Given the description of an element on the screen output the (x, y) to click on. 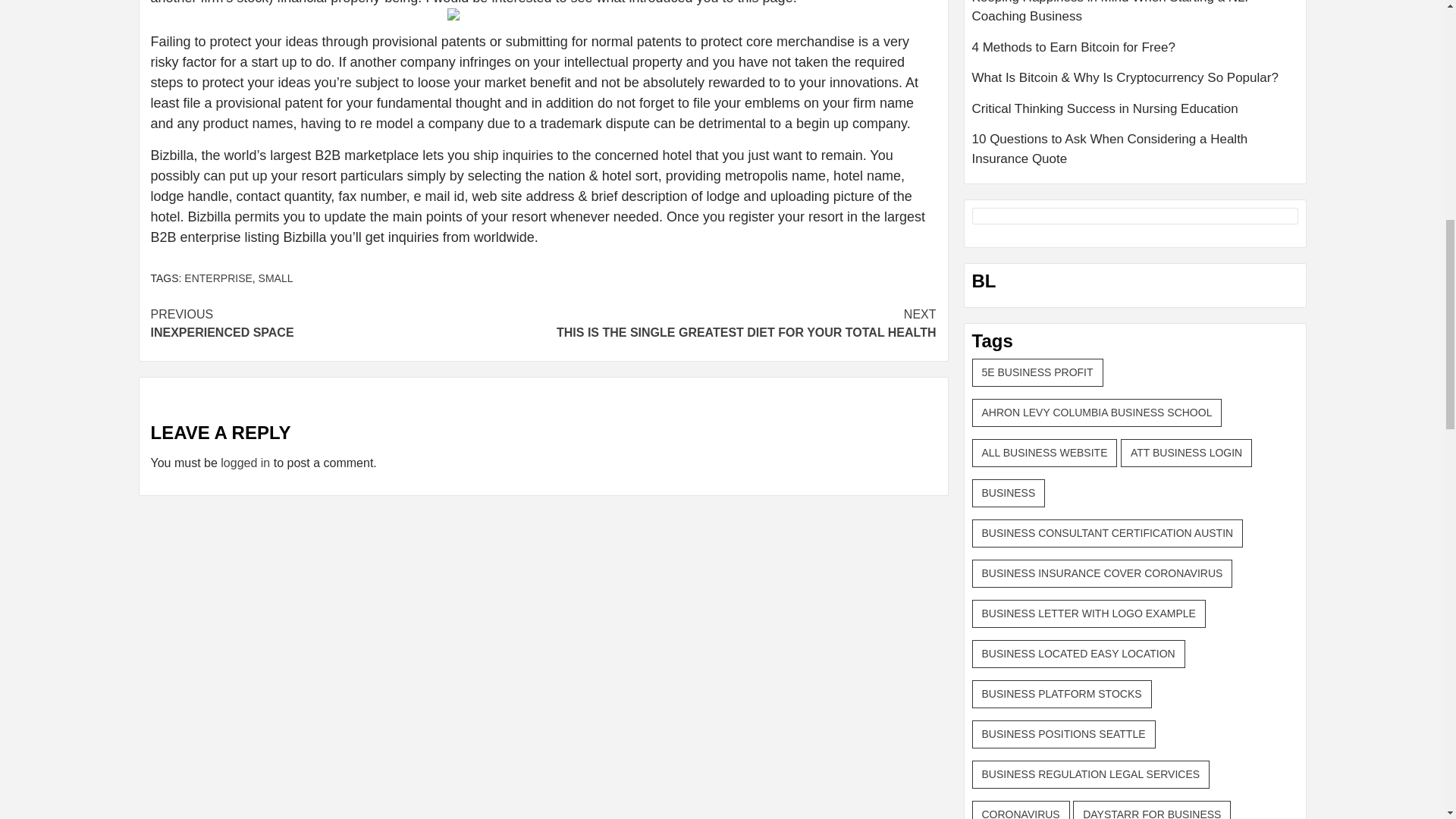
logged in (245, 462)
SMALL (739, 323)
ENTERPRISE (276, 277)
